Given the description of an element on the screen output the (x, y) to click on. 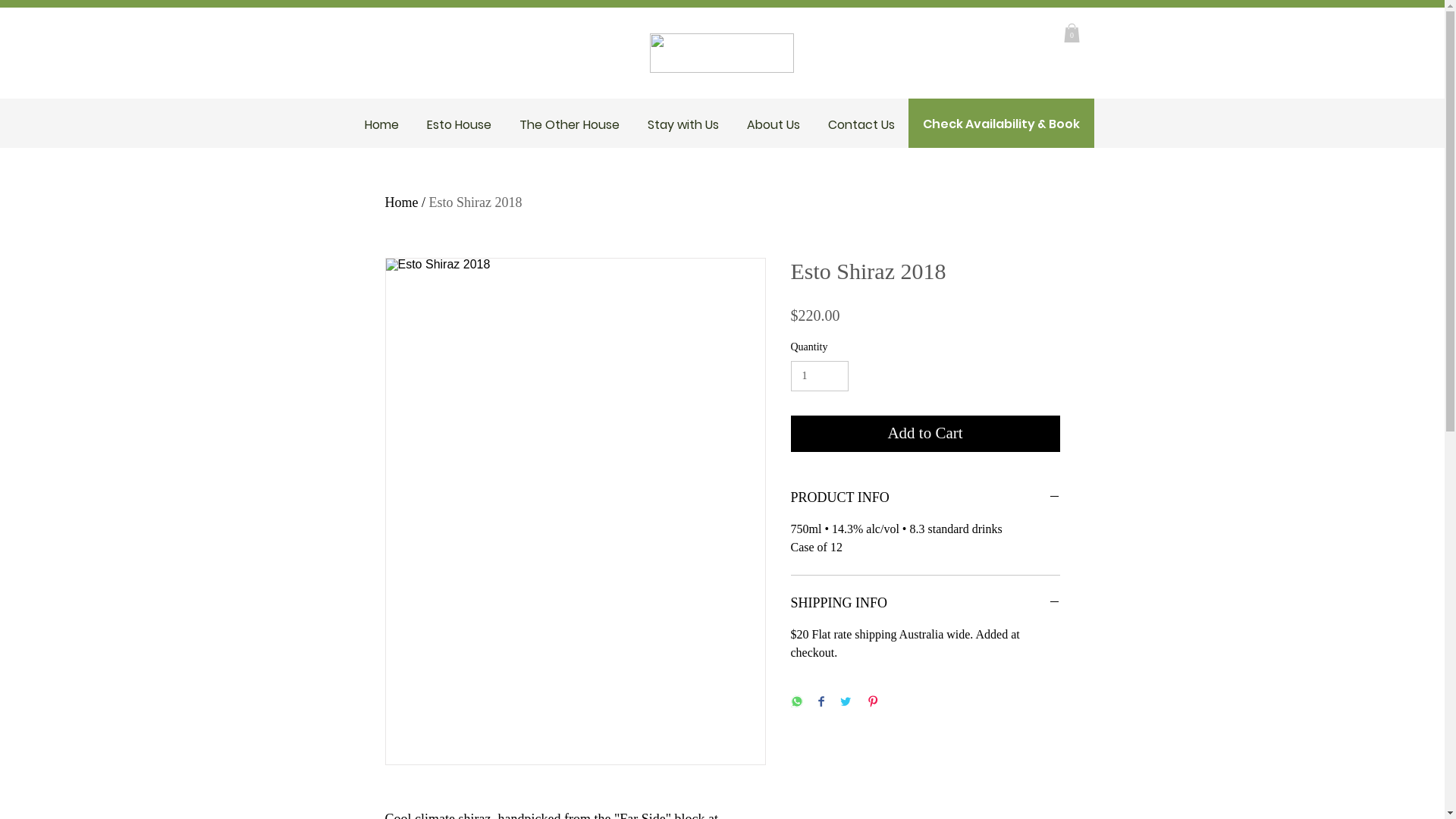
Check Availability & Book Element type: text (1001, 124)
Stay with Us Element type: text (683, 124)
SHIPPING INFO Element type: text (924, 602)
PRODUCT INFO Element type: text (924, 497)
Home Element type: text (381, 124)
Esto House Element type: text (458, 124)
0 Element type: text (1071, 32)
Contact Us Element type: text (861, 124)
Add to Cart Element type: text (924, 433)
The Other House Element type: text (569, 124)
Home Element type: text (401, 202)
About Us Element type: text (772, 124)
